Given the description of an element on the screen output the (x, y) to click on. 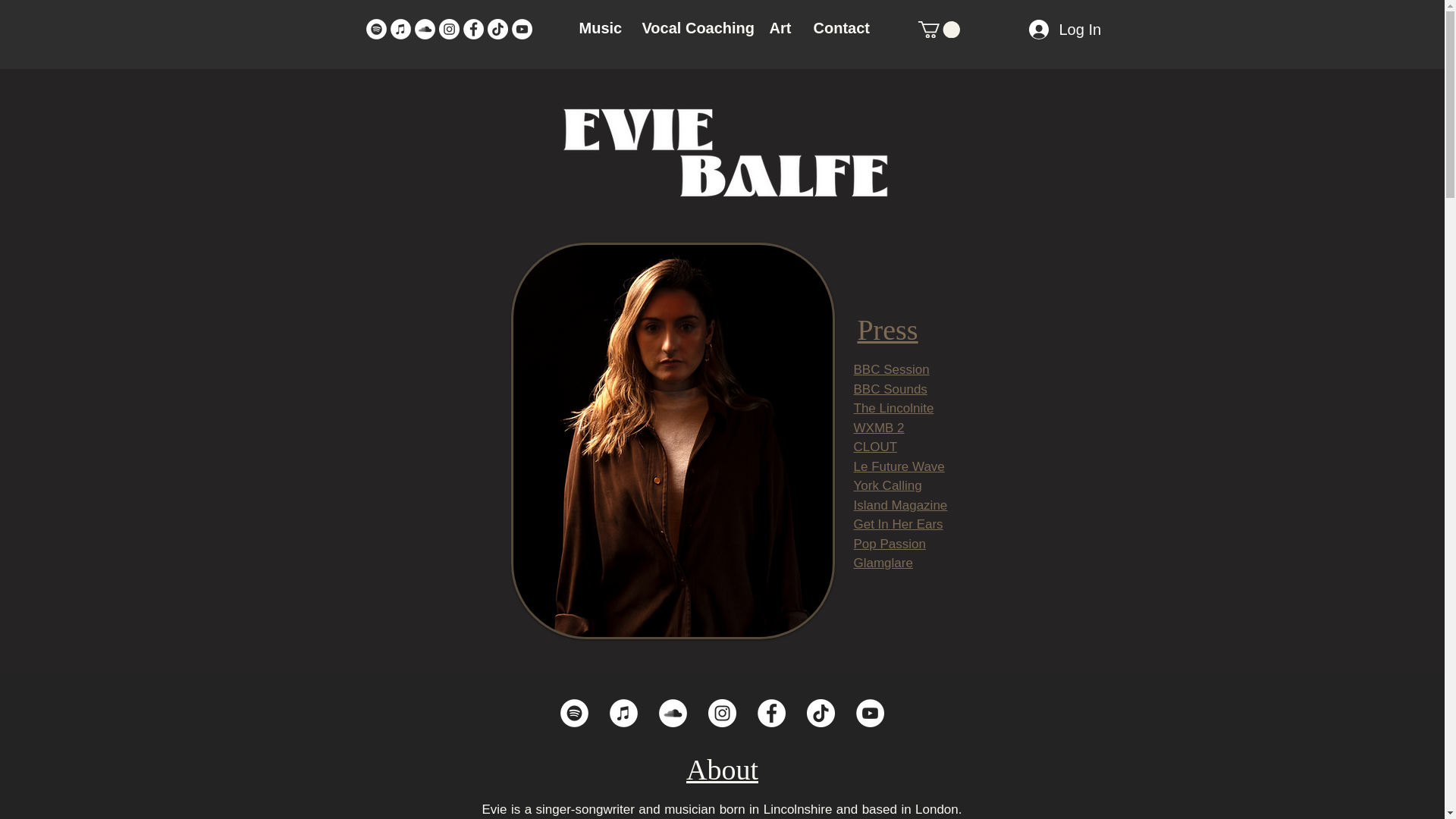
Glamglare (882, 563)
Le Future Wave (898, 466)
Get In Her Ears (898, 523)
Vocal Coaching (694, 27)
Island Magazine (900, 504)
Music (598, 27)
CLOUT (875, 446)
WXMB 2 (878, 427)
Art (780, 27)
Contact (840, 27)
Log In (1047, 29)
The Lincolnite (893, 408)
BBC Sounds (890, 389)
York Calling (887, 485)
BBC Session (891, 369)
